Given the description of an element on the screen output the (x, y) to click on. 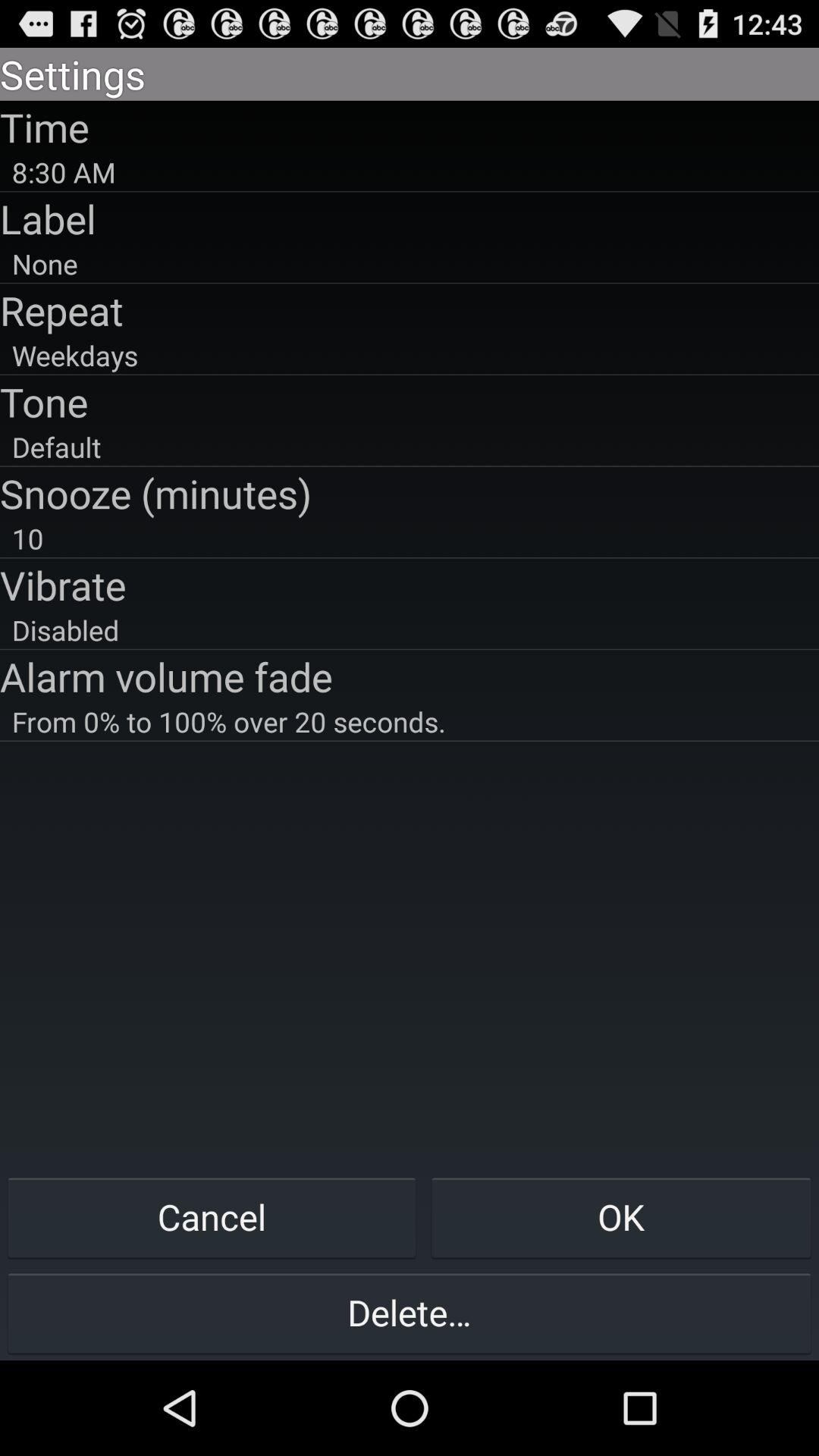
tap ok icon (621, 1216)
